Given the description of an element on the screen output the (x, y) to click on. 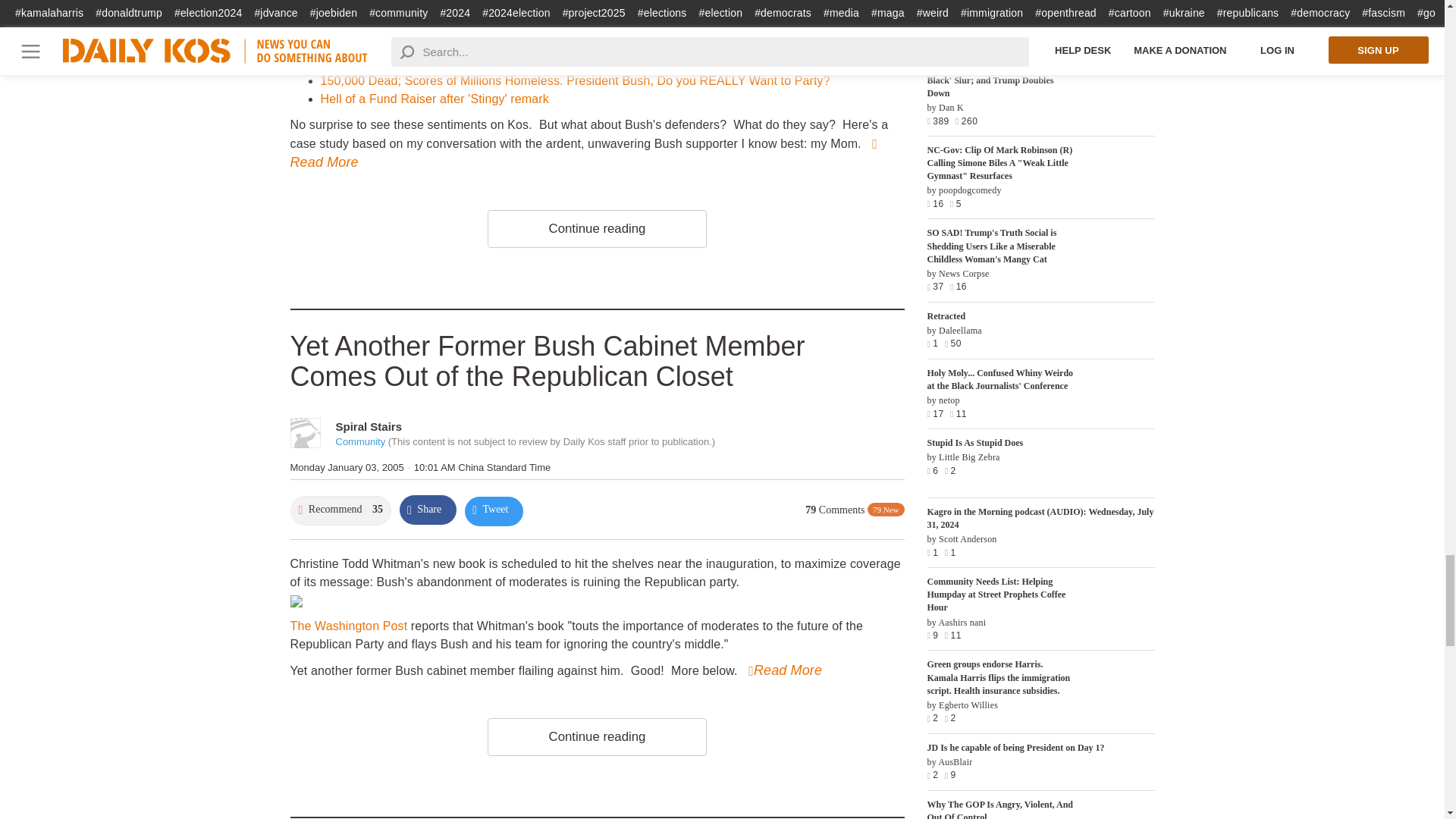
79 Comments 79 New (854, 510)
